Given the description of an element on the screen output the (x, y) to click on. 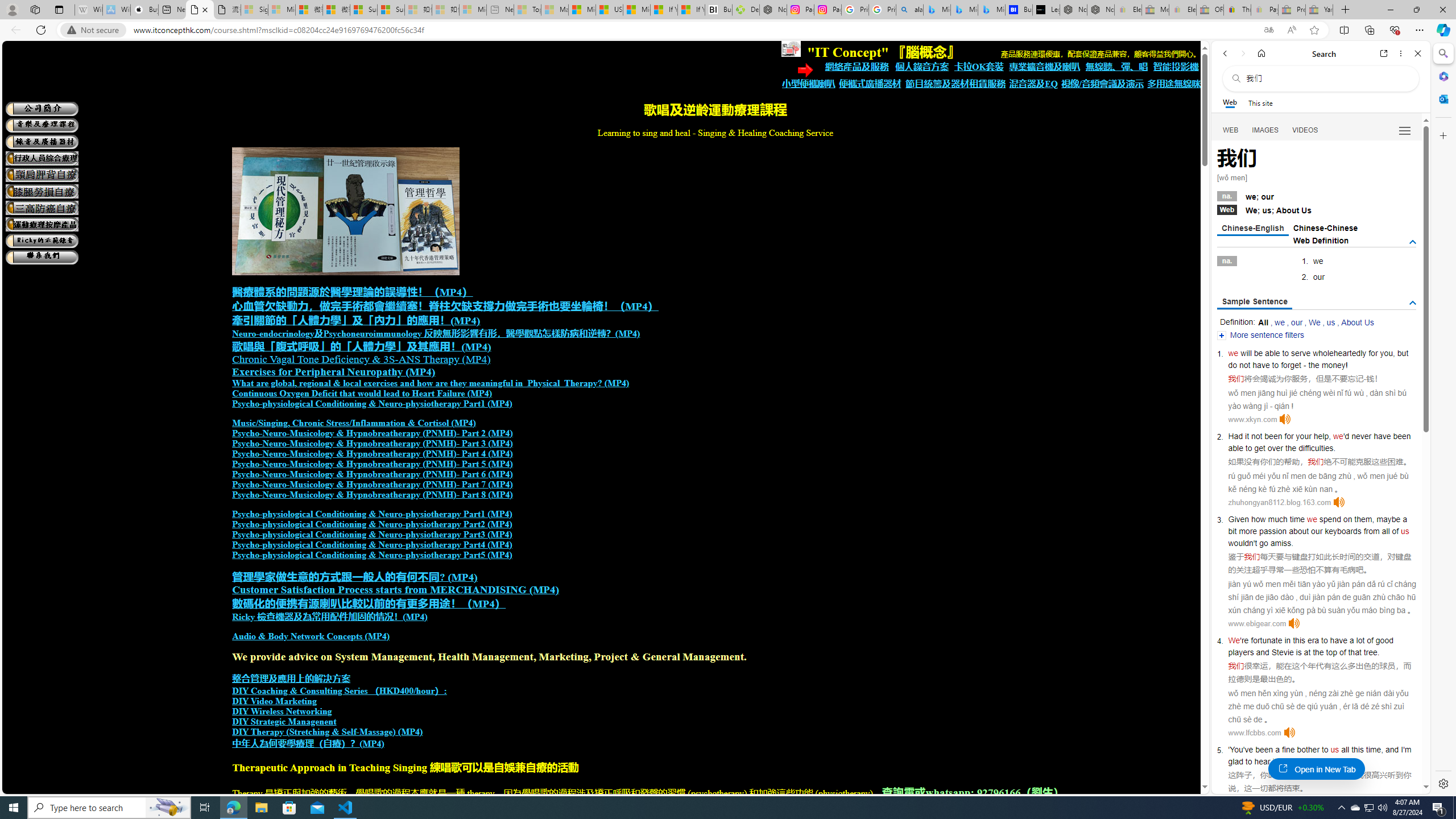
VIDEOS (1304, 130)
Web Definition (1321, 240)
Chronic Vagal Tone Deficiency & 3S-ANS Therapy (MP4) (360, 359)
, (1381, 749)
players (1240, 651)
